Given the description of an element on the screen output the (x, y) to click on. 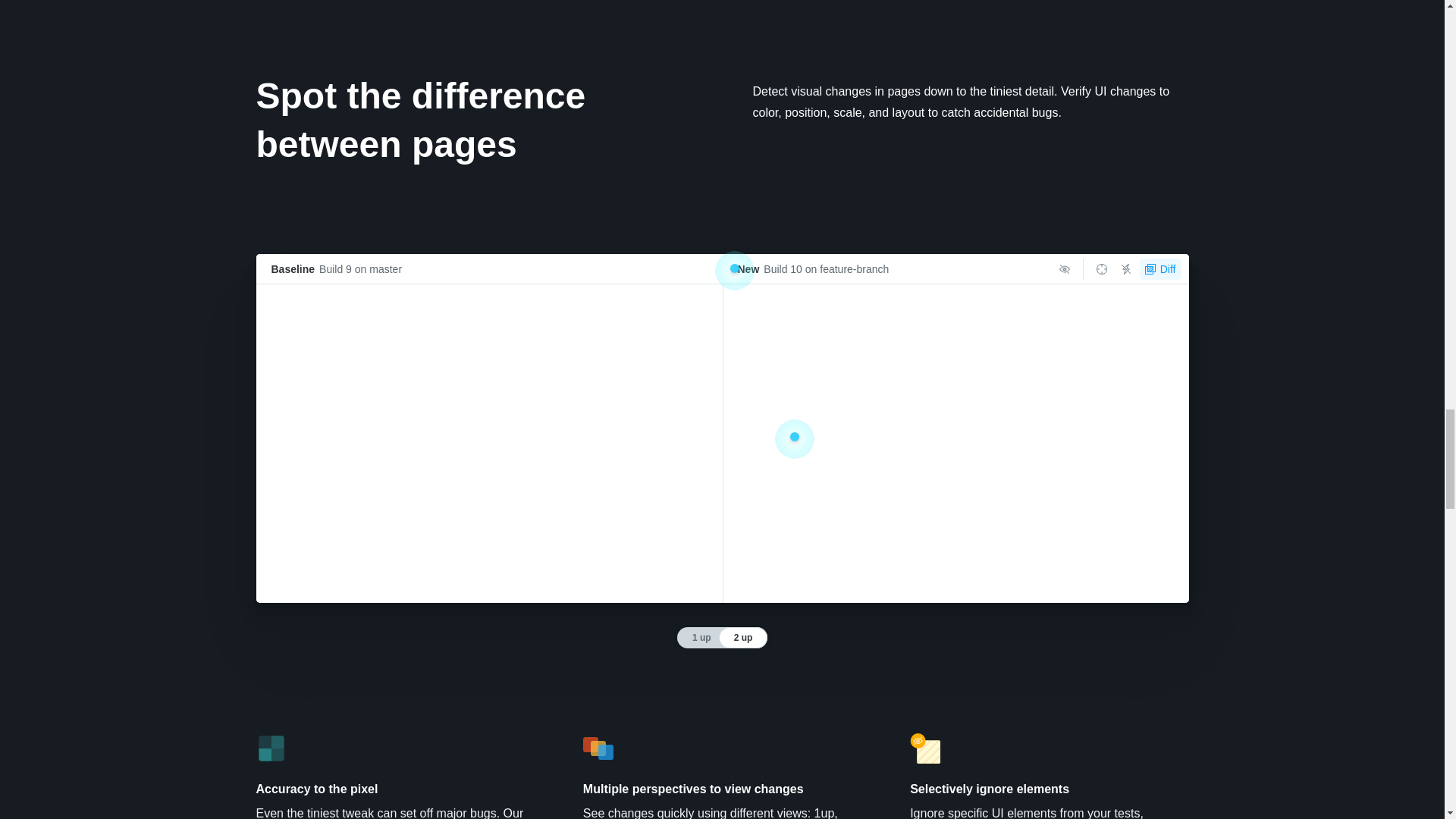
Build 9 on master (359, 268)
Build 10 on feature-branch (825, 268)
Diff (1160, 269)
Build 10 on feature-branch (825, 268)
Build 9 on master (359, 268)
2 up (743, 637)
1 up (699, 637)
